Given the description of an element on the screen output the (x, y) to click on. 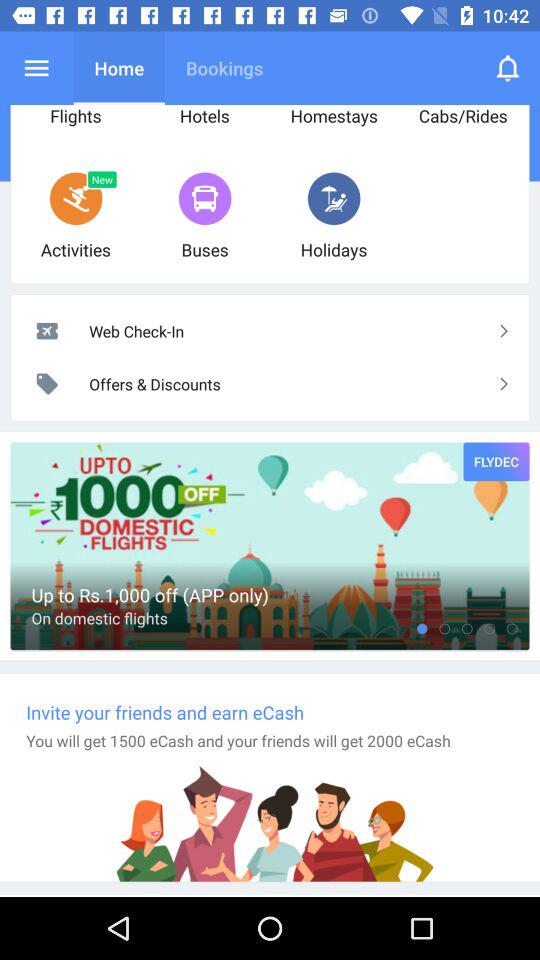
flip to flydec item (496, 461)
